Given the description of an element on the screen output the (x, y) to click on. 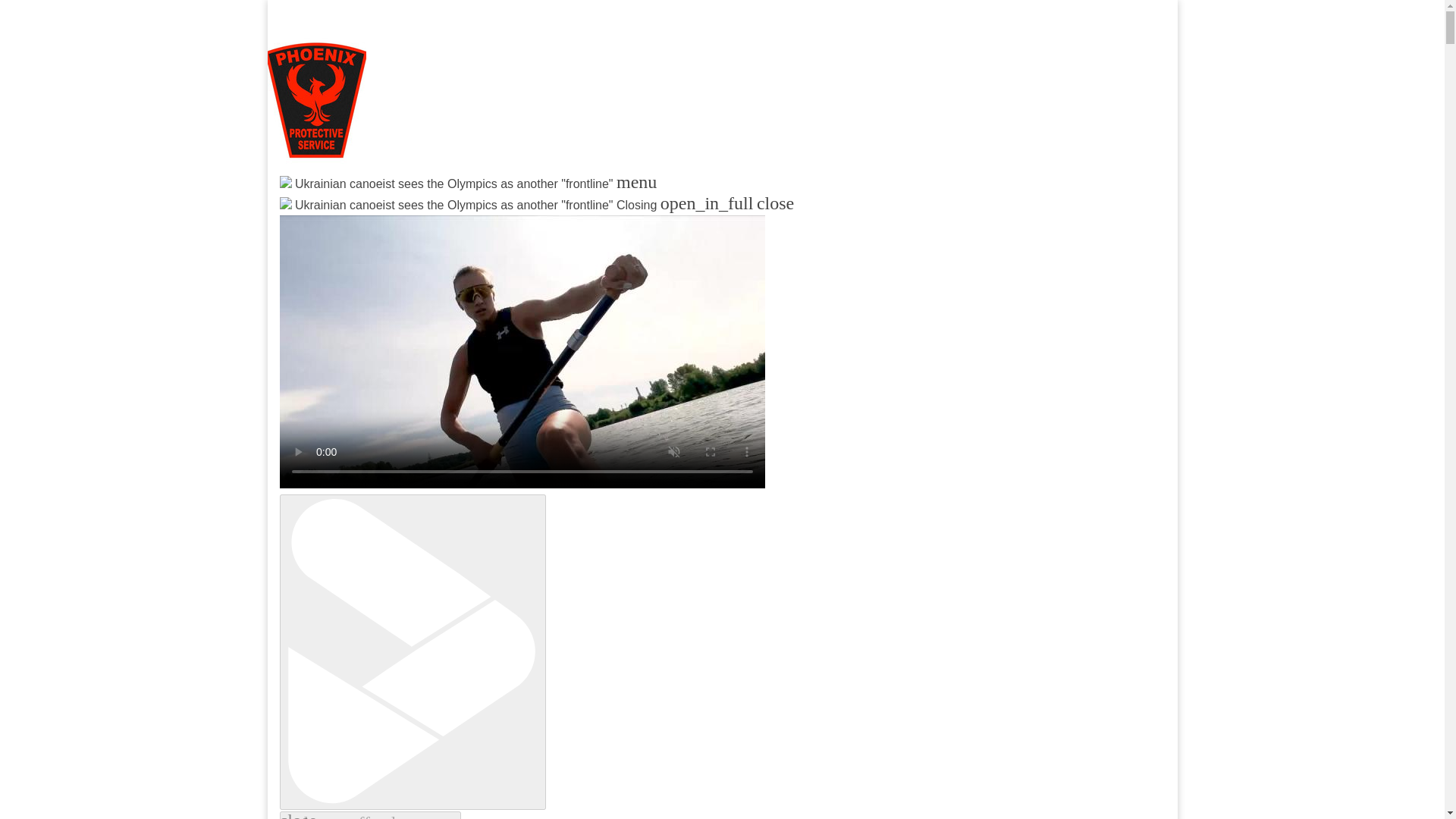
Skope Entertainment Inc (462, 220)
Skope Entertainment Inc (462, 220)
